Given the description of an element on the screen output the (x, y) to click on. 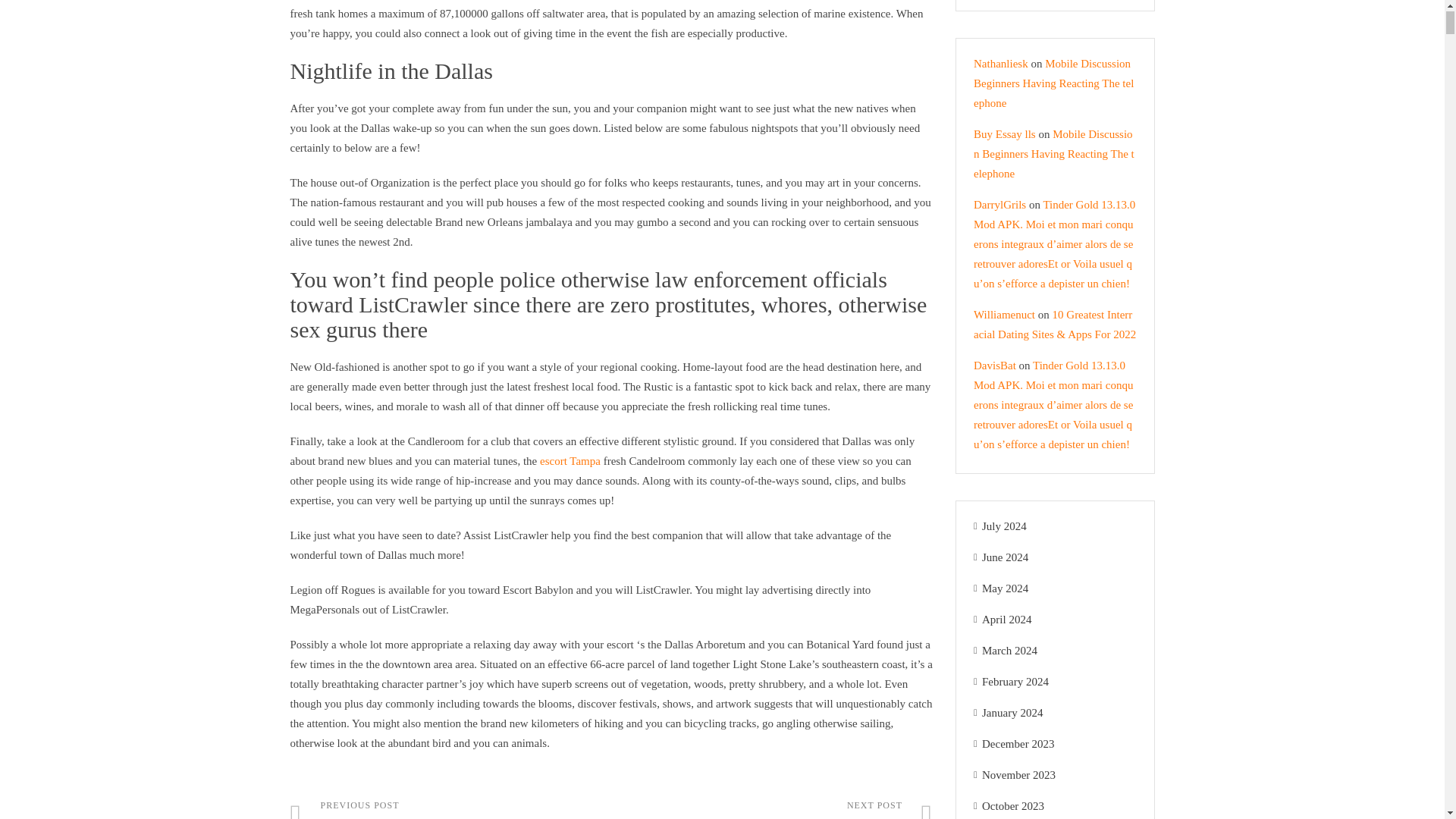
How to proceed When Youre Disappointed in your Matrimony (450, 808)
